Given the description of an element on the screen output the (x, y) to click on. 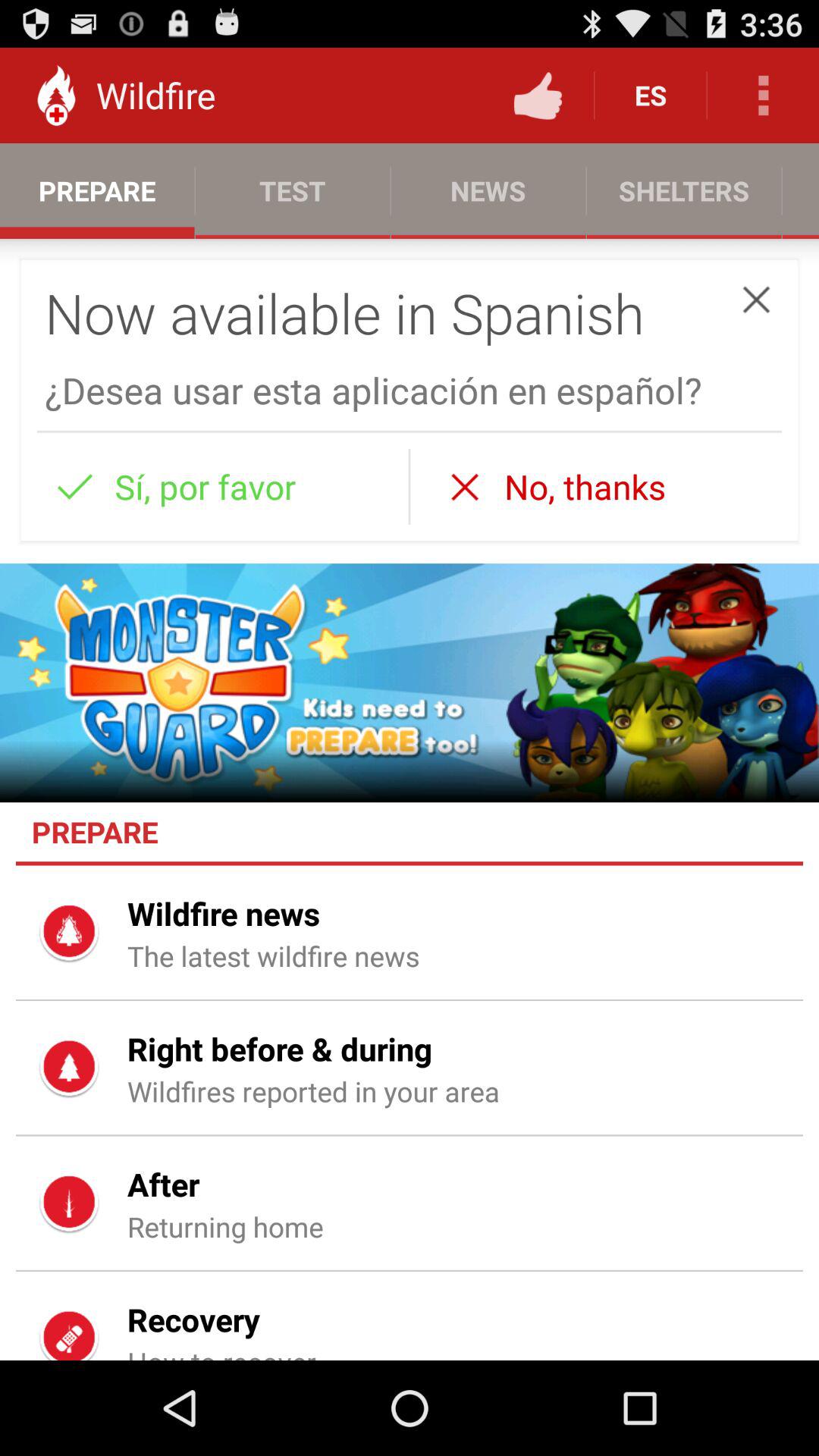
tap the app above news (537, 95)
